Given the description of an element on the screen output the (x, y) to click on. 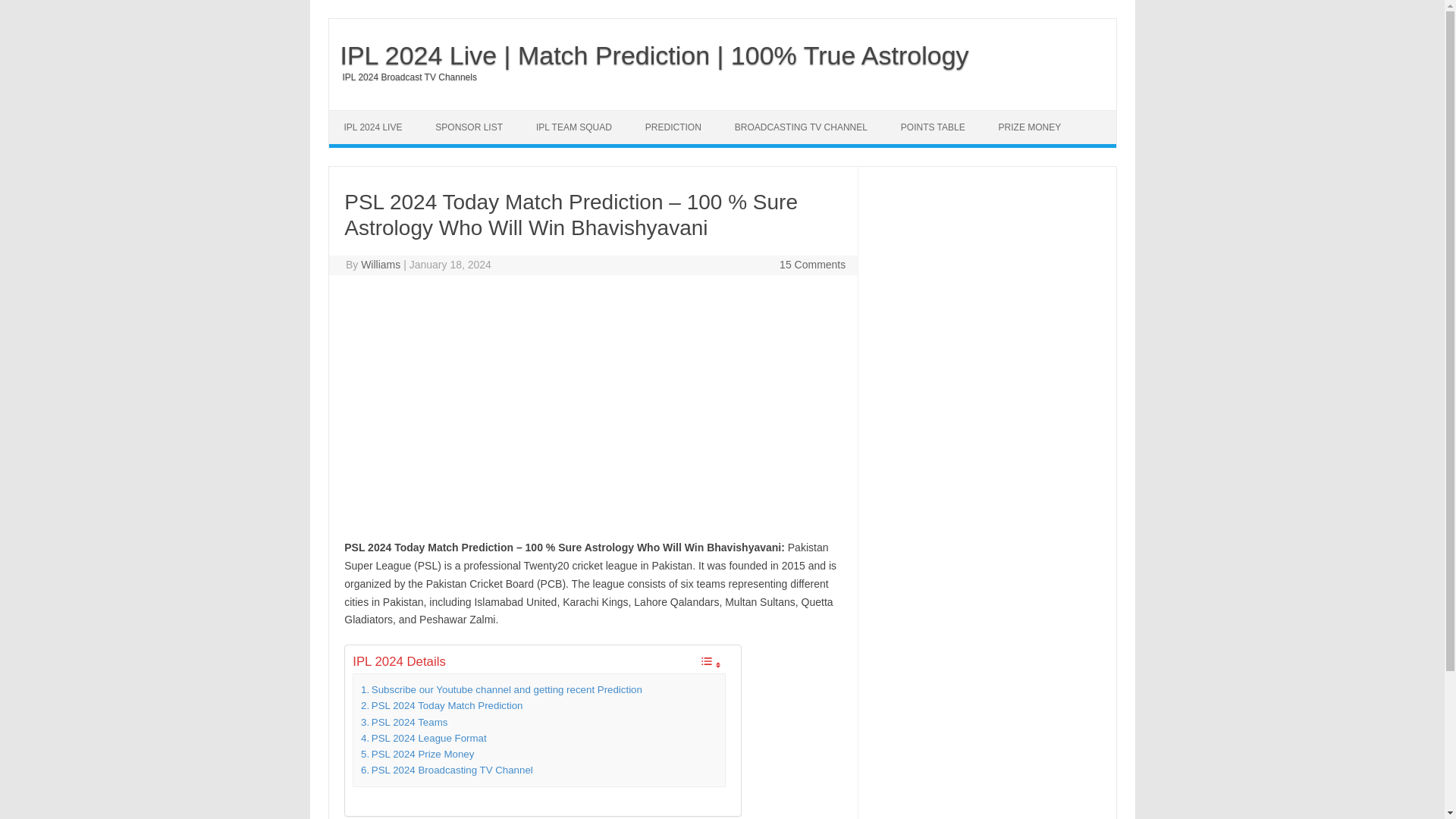
POINTS TABLE (932, 127)
PSL 2024 Prize Money (417, 754)
Posts by Williams (380, 264)
IPL 2024 LIVE (373, 127)
BROADCASTING TV CHANNEL (800, 127)
PSL 2024 Today Match Prediction (441, 705)
IPL 2024 Broadcast TV Channels (403, 77)
IPL TEAM SQUAD (574, 127)
PREDICTION (673, 127)
SPONSOR LIST (469, 127)
PSL 2024 Broadcasting TV Channel (446, 770)
PSL 2024 Teams (403, 722)
PRIZE MONEY (1030, 127)
